Given the description of an element on the screen output the (x, y) to click on. 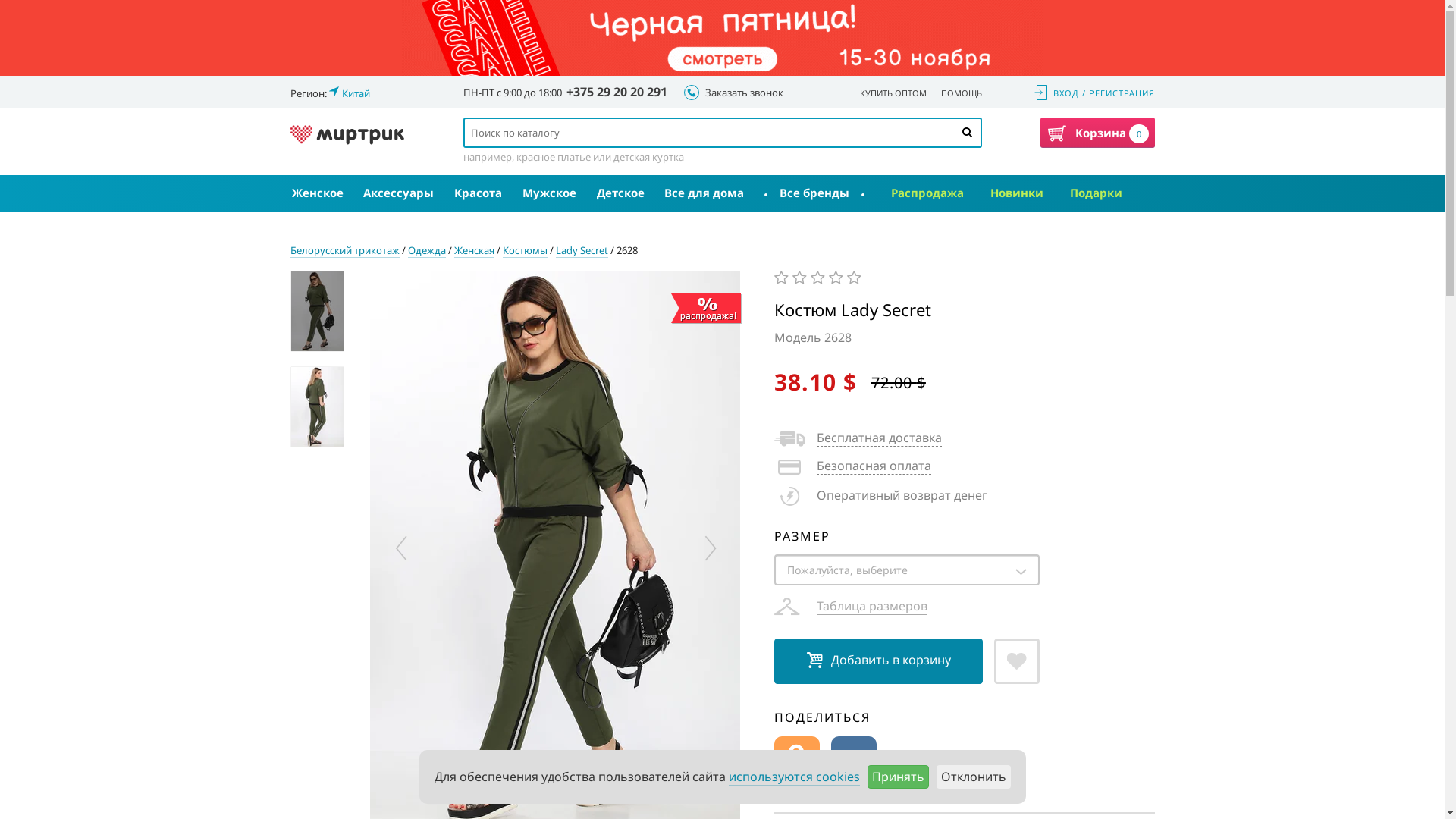
+375 29 20 20 291 Element type: text (615, 91)
Lady Secret Element type: text (581, 250)
